Given the description of an element on the screen output the (x, y) to click on. 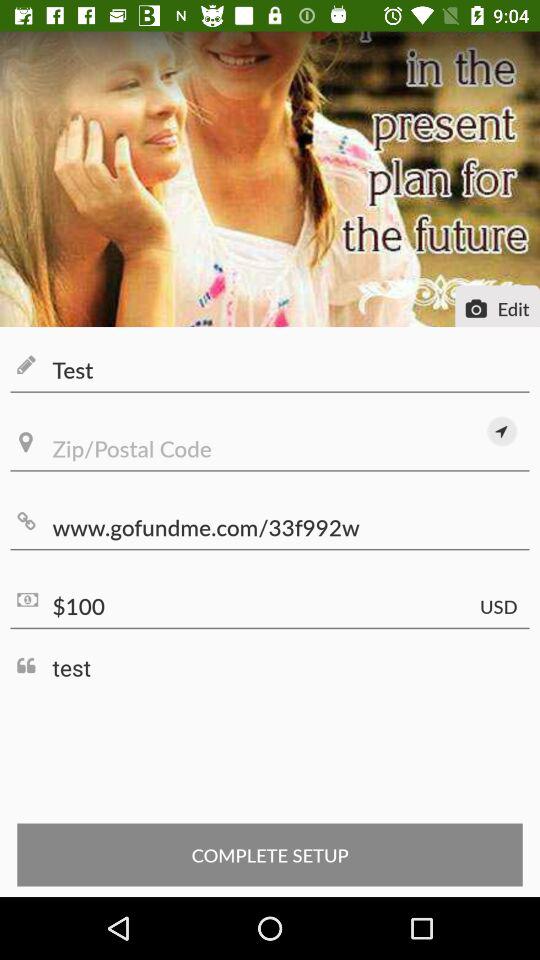
press the item above $100 icon (269, 527)
